Given the description of an element on the screen output the (x, y) to click on. 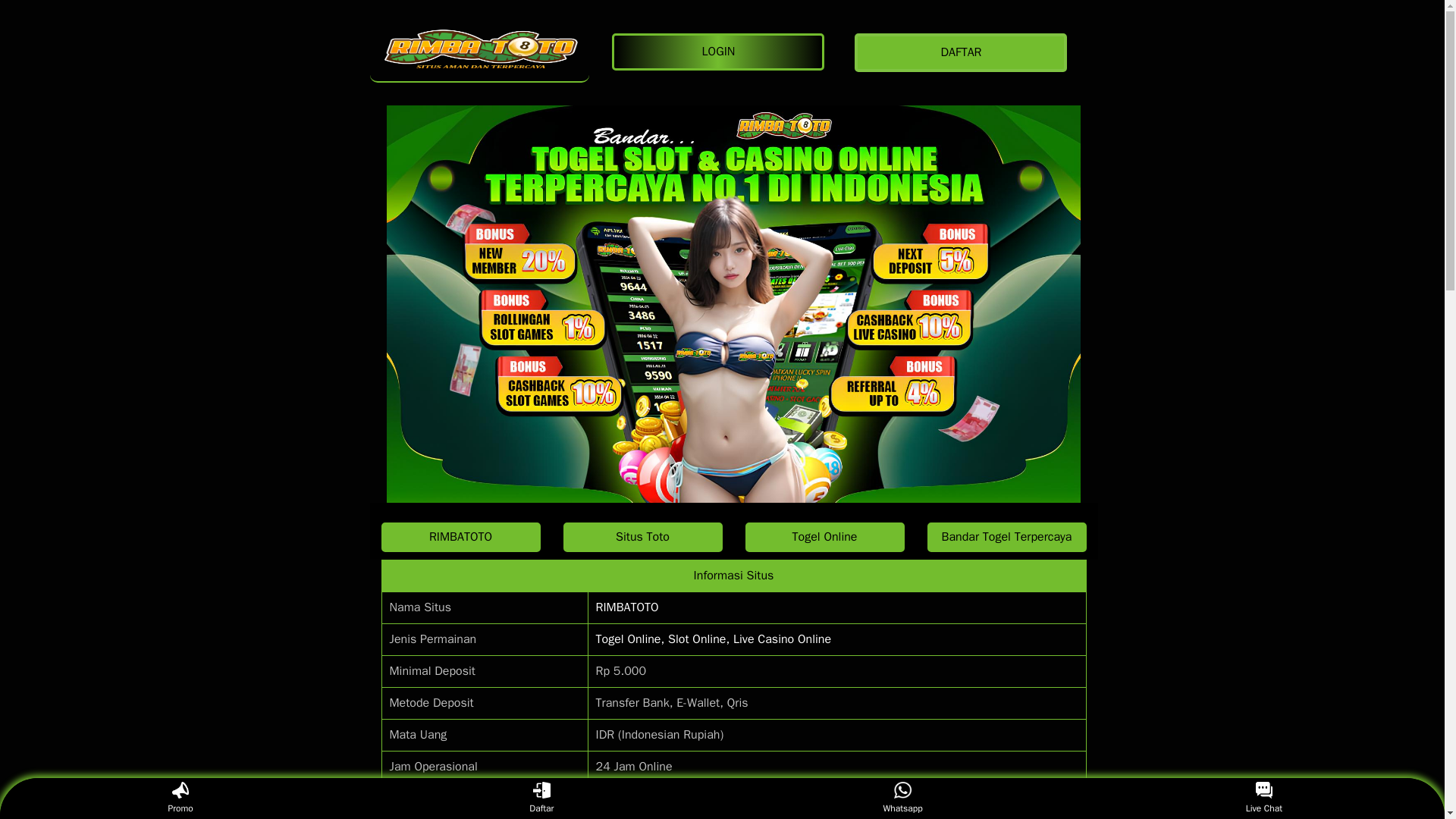
Situs Toto (642, 537)
Togel Online, Slot Online, Live Casino Online (713, 639)
Bandar Togel Terpercaya (1006, 537)
Togel Online (824, 537)
RIMBATOTO (460, 537)
DAFTAR (964, 52)
Whatsapp (903, 797)
LOGIN (721, 51)
Situs Toto (642, 537)
RIMBATOTO (627, 607)
RIMBATOTO (479, 52)
Bandar Togel Terpercaya (1006, 537)
Live Chat (1263, 797)
Togel Online (824, 537)
Daftar (541, 797)
